Given the description of an element on the screen output the (x, y) to click on. 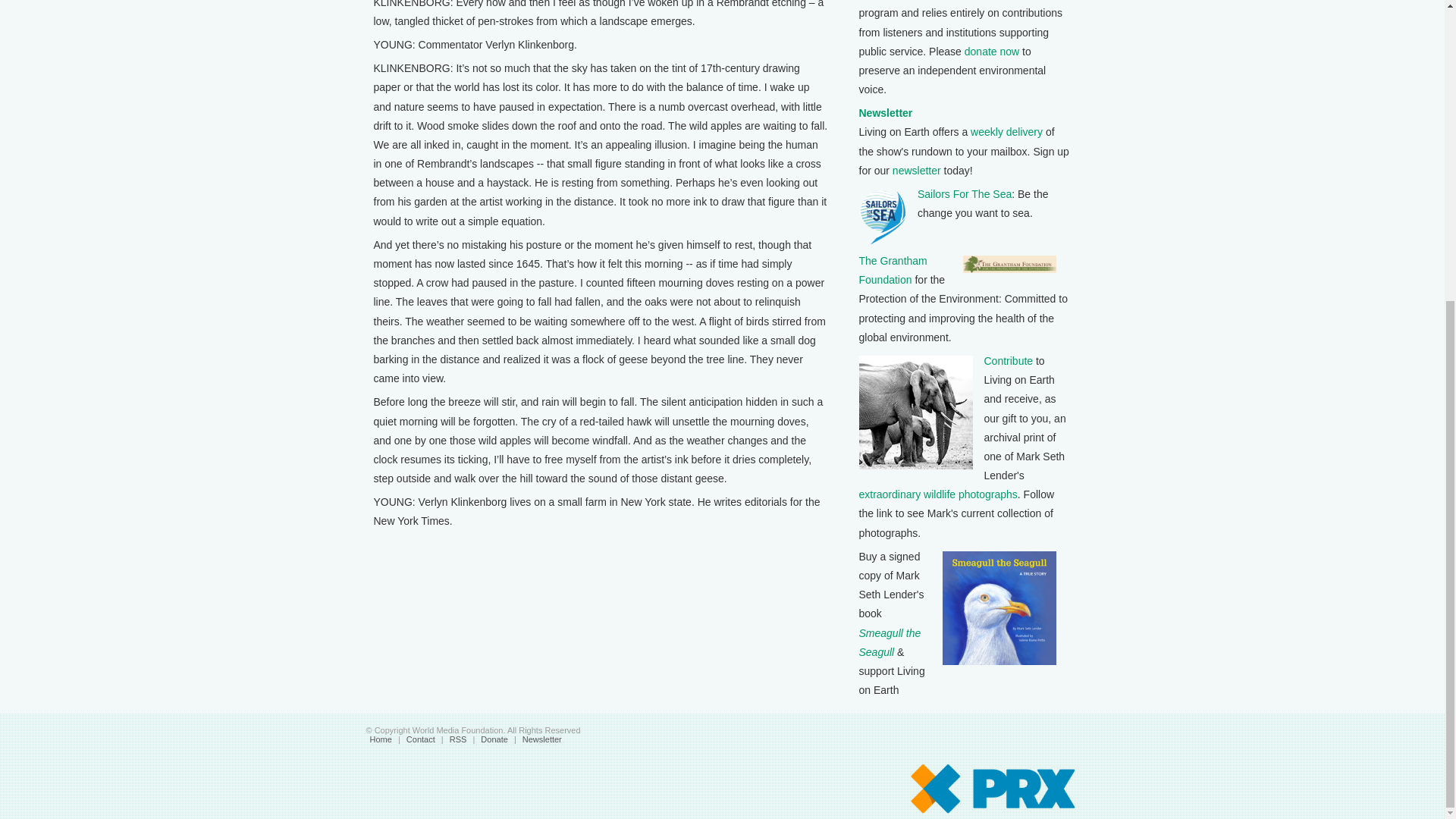
Newsletter (885, 112)
Sailors For The Sea (964, 193)
weekly delivery (1006, 132)
The Grantham Foundation (892, 269)
donate now (991, 51)
newsletter (916, 170)
